Given the description of an element on the screen output the (x, y) to click on. 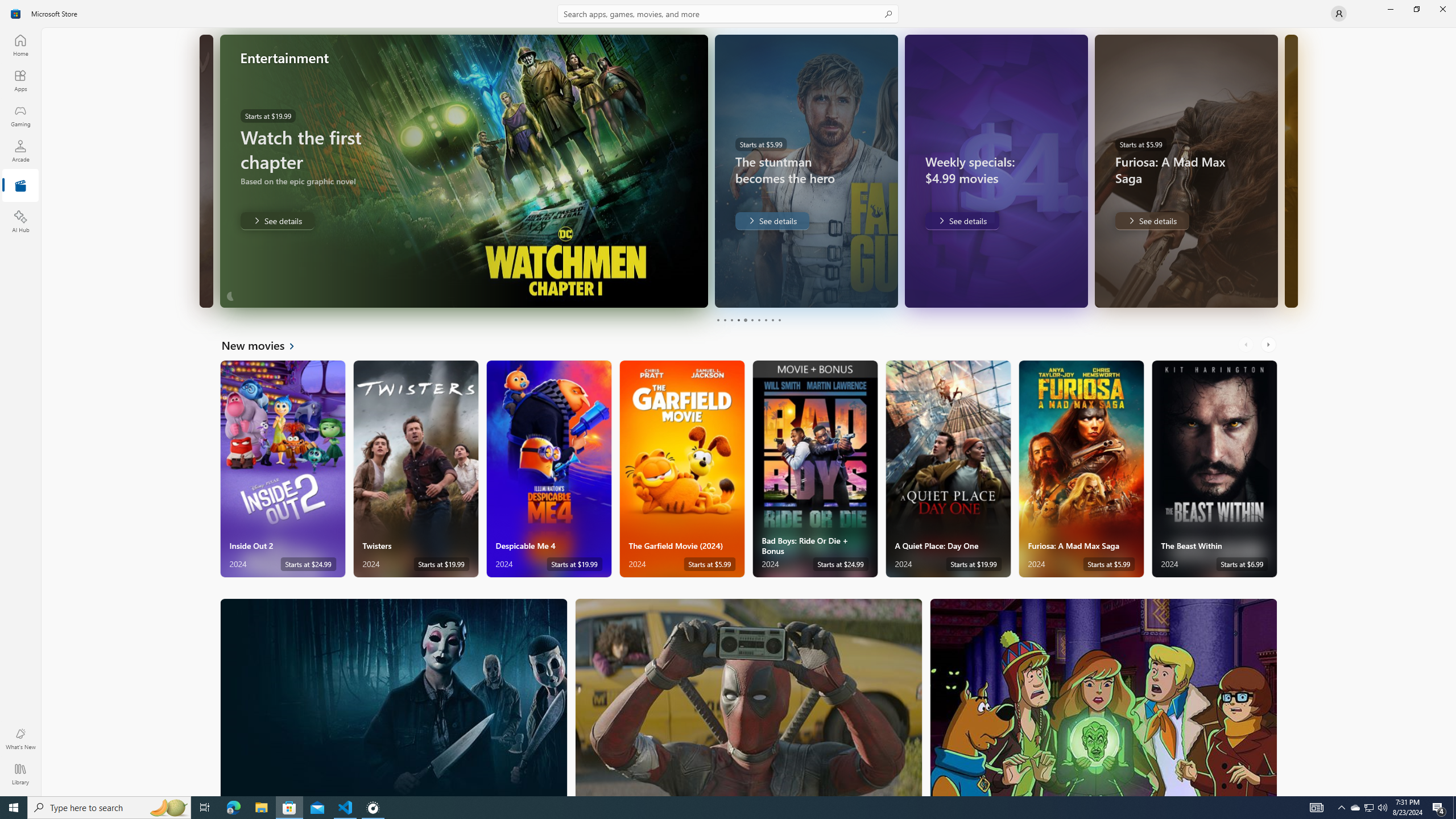
AutomationID: RightScrollButton (1269, 344)
Page 5 (744, 319)
AutomationID: LeftScrollButton (1246, 344)
Pager (748, 319)
Family (1102, 697)
Page 4 (738, 319)
Bad Boys: Ride Or Die + Bonus. Starts at $24.99   (814, 469)
